Given the description of an element on the screen output the (x, y) to click on. 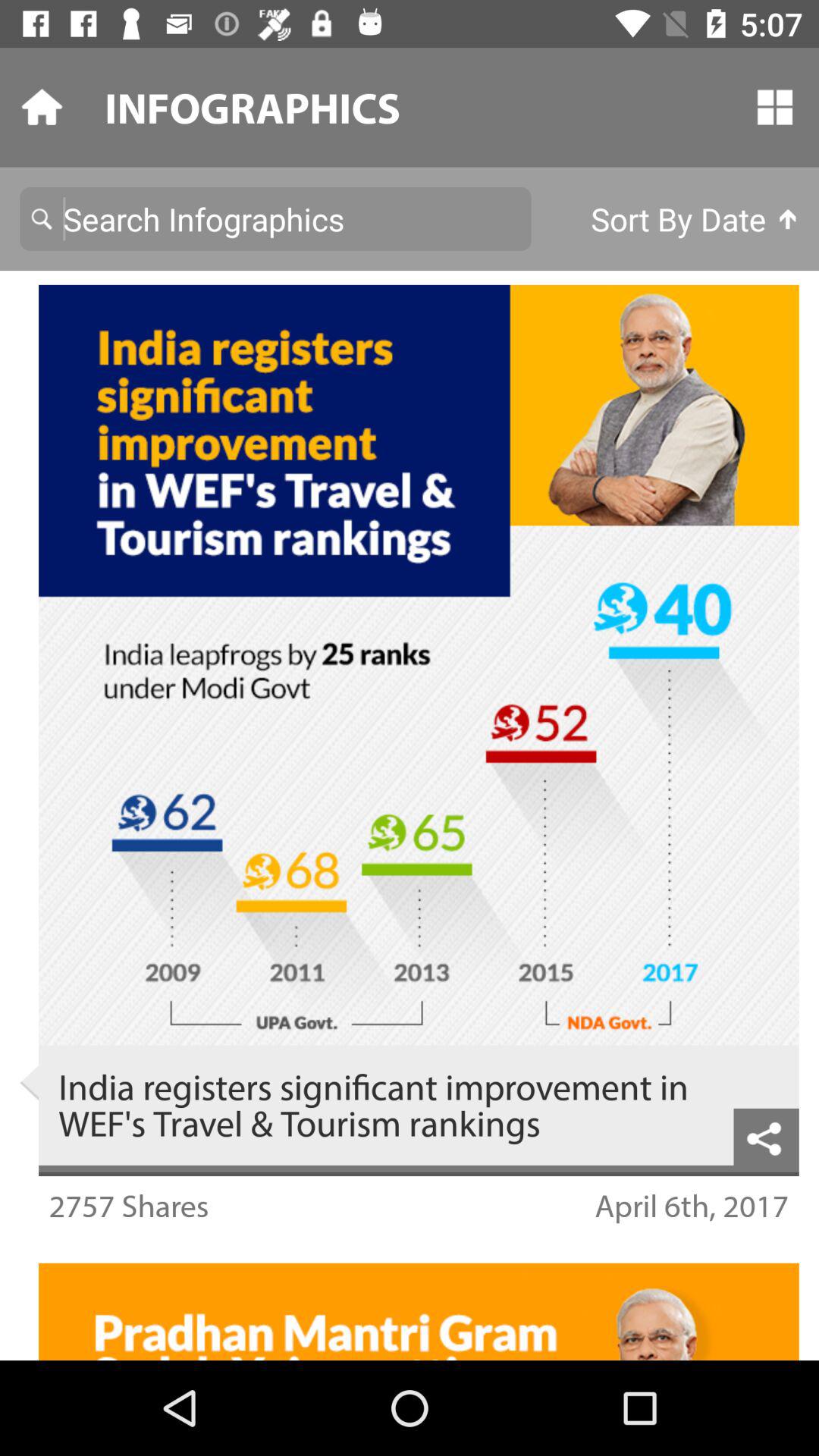
click icon to the right of the india registers significant icon (766, 1136)
